Given the description of an element on the screen output the (x, y) to click on. 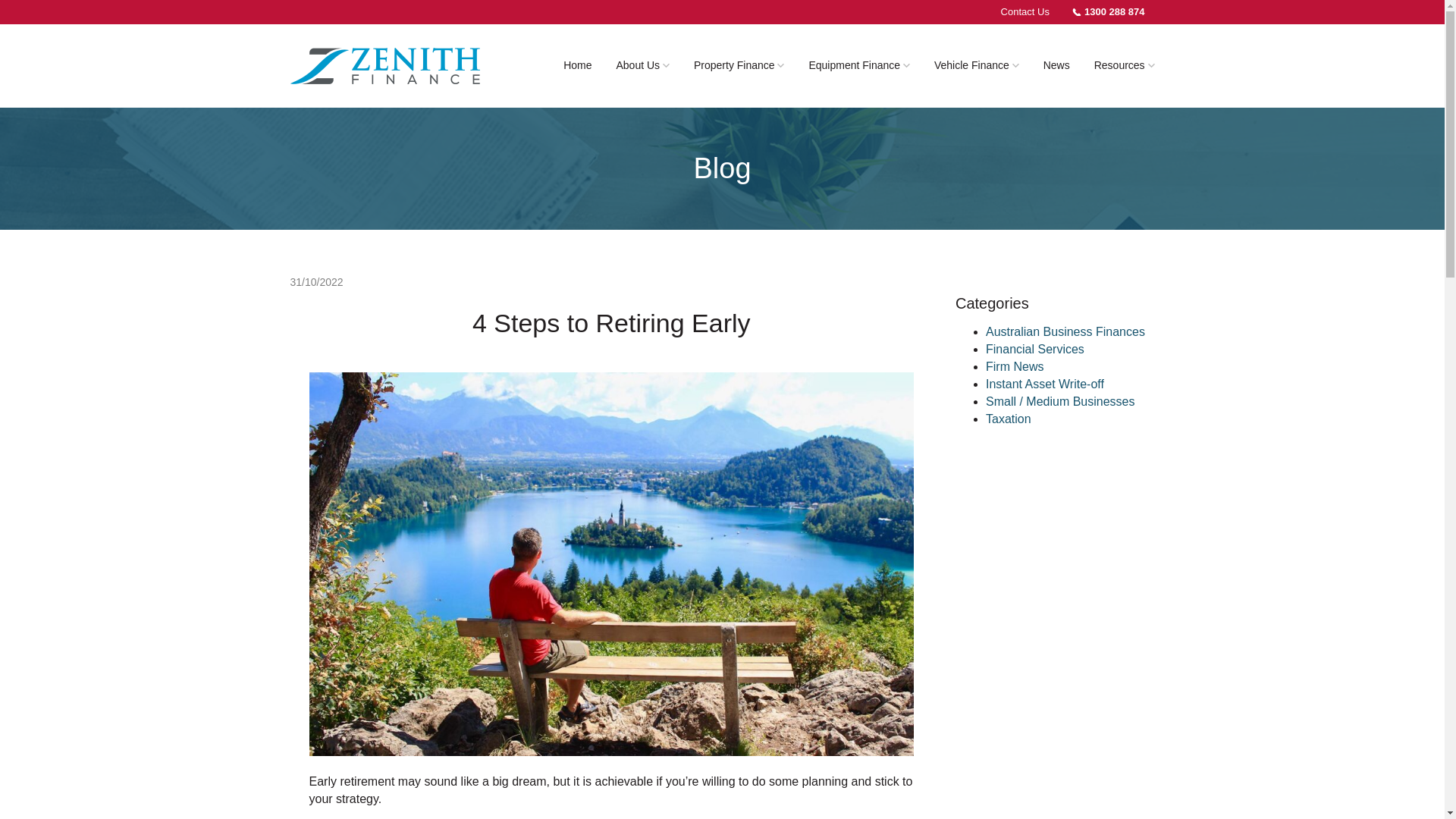
Contact Us (1025, 12)
About Us  (642, 65)
1300 288 874 (1108, 12)
About Us (642, 65)
Australian Business Finances (1064, 331)
Resources  (1124, 65)
Equipment Finance  (858, 65)
Financial Services (1034, 349)
Vehicle Finance  (975, 65)
Home (577, 65)
Home (577, 65)
Contact Us (1025, 12)
Property Finance (738, 65)
Property Finance  (738, 65)
News (1055, 65)
